Given the description of an element on the screen output the (x, y) to click on. 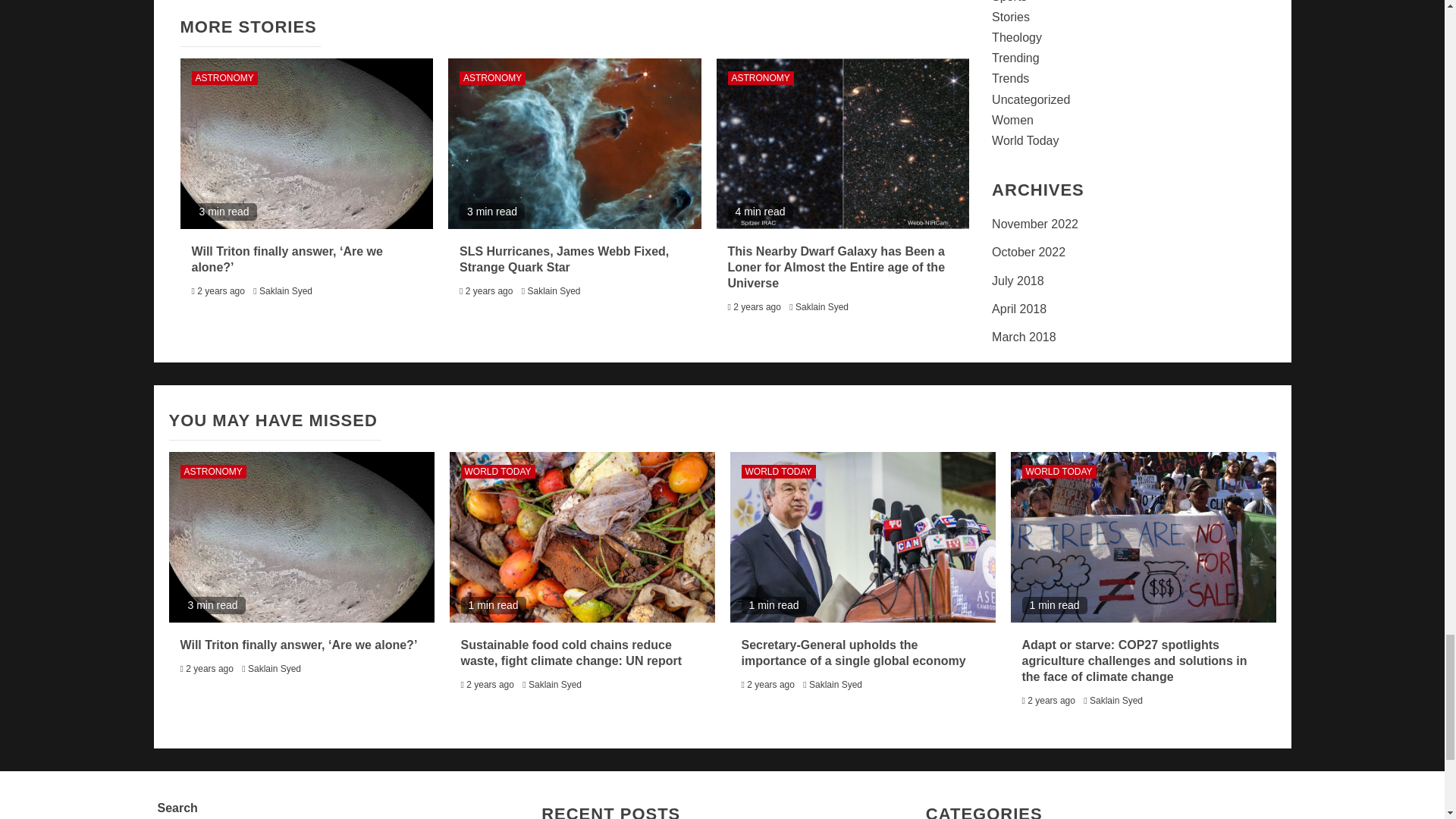
SLS Hurricanes, James Webb Fixed, Strange Quark Star (574, 143)
